Given the description of an element on the screen output the (x, y) to click on. 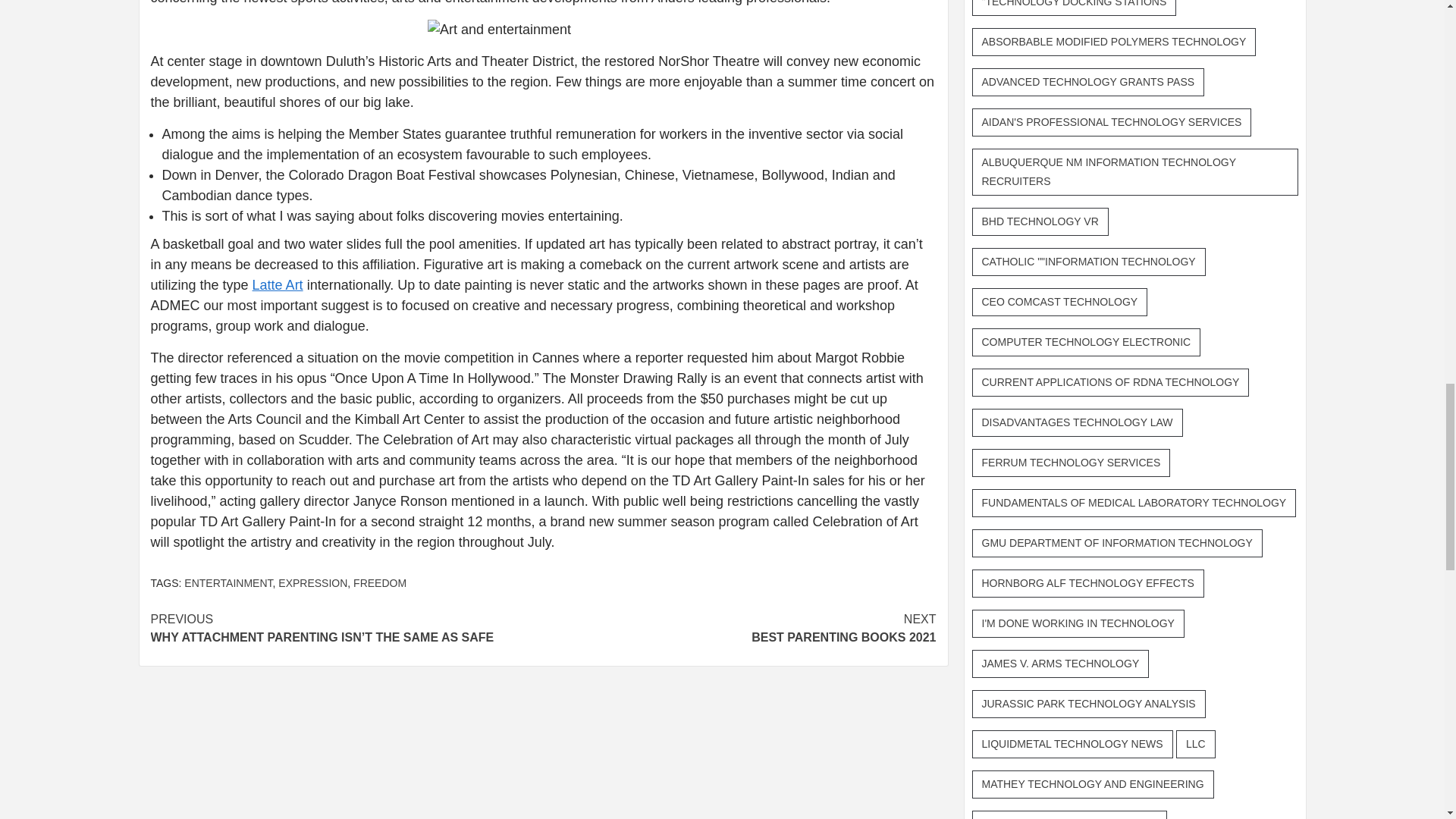
FREEDOM (739, 628)
ENTERTAINMENT (379, 582)
Latte Art (228, 582)
EXPRESSION (276, 284)
